Given the description of an element on the screen output the (x, y) to click on. 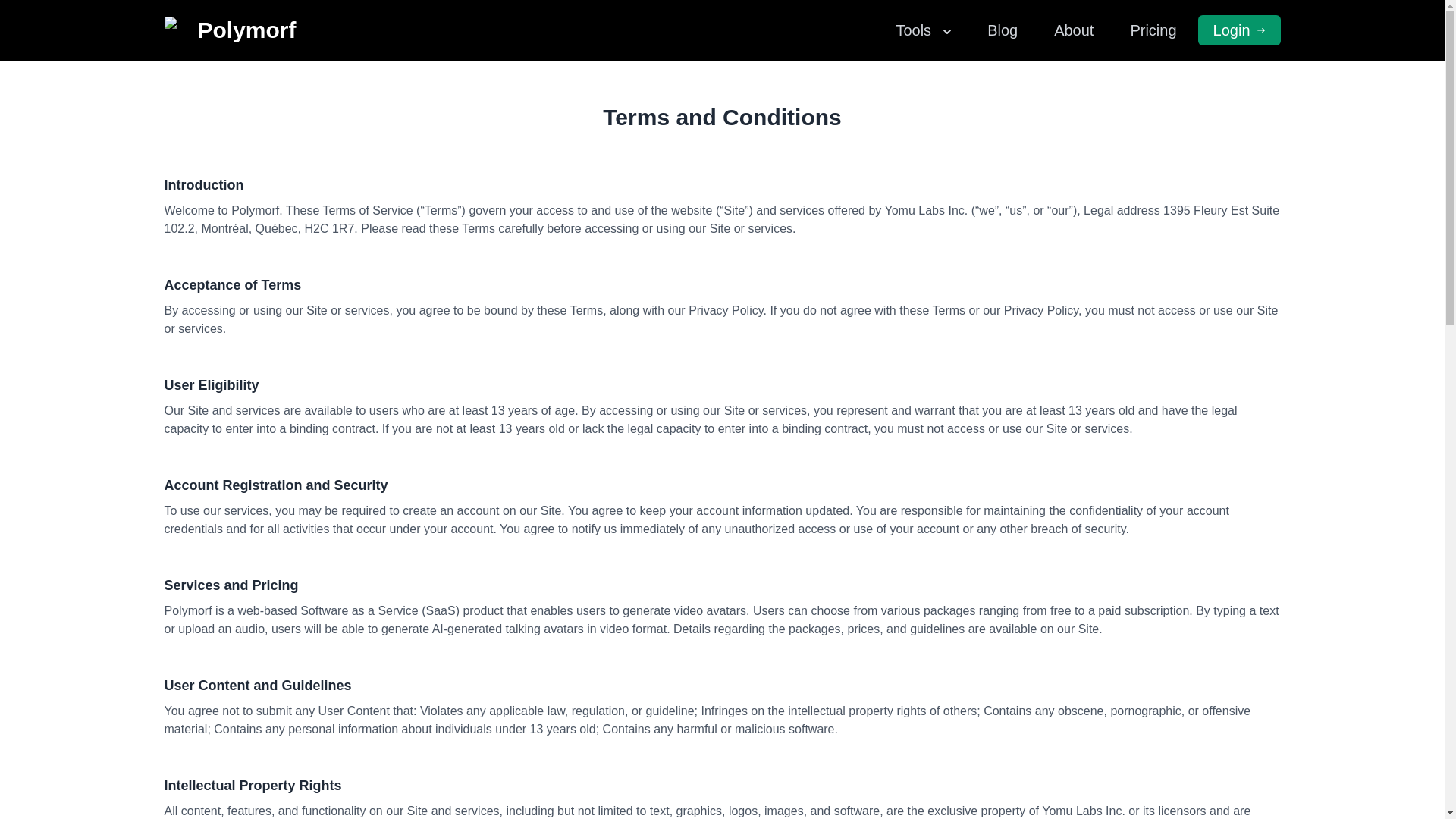
Polymorf (229, 30)
Blog (1002, 30)
Tools (923, 30)
Pricing (1153, 30)
Login (1239, 30)
About (1073, 30)
